Given the description of an element on the screen output the (x, y) to click on. 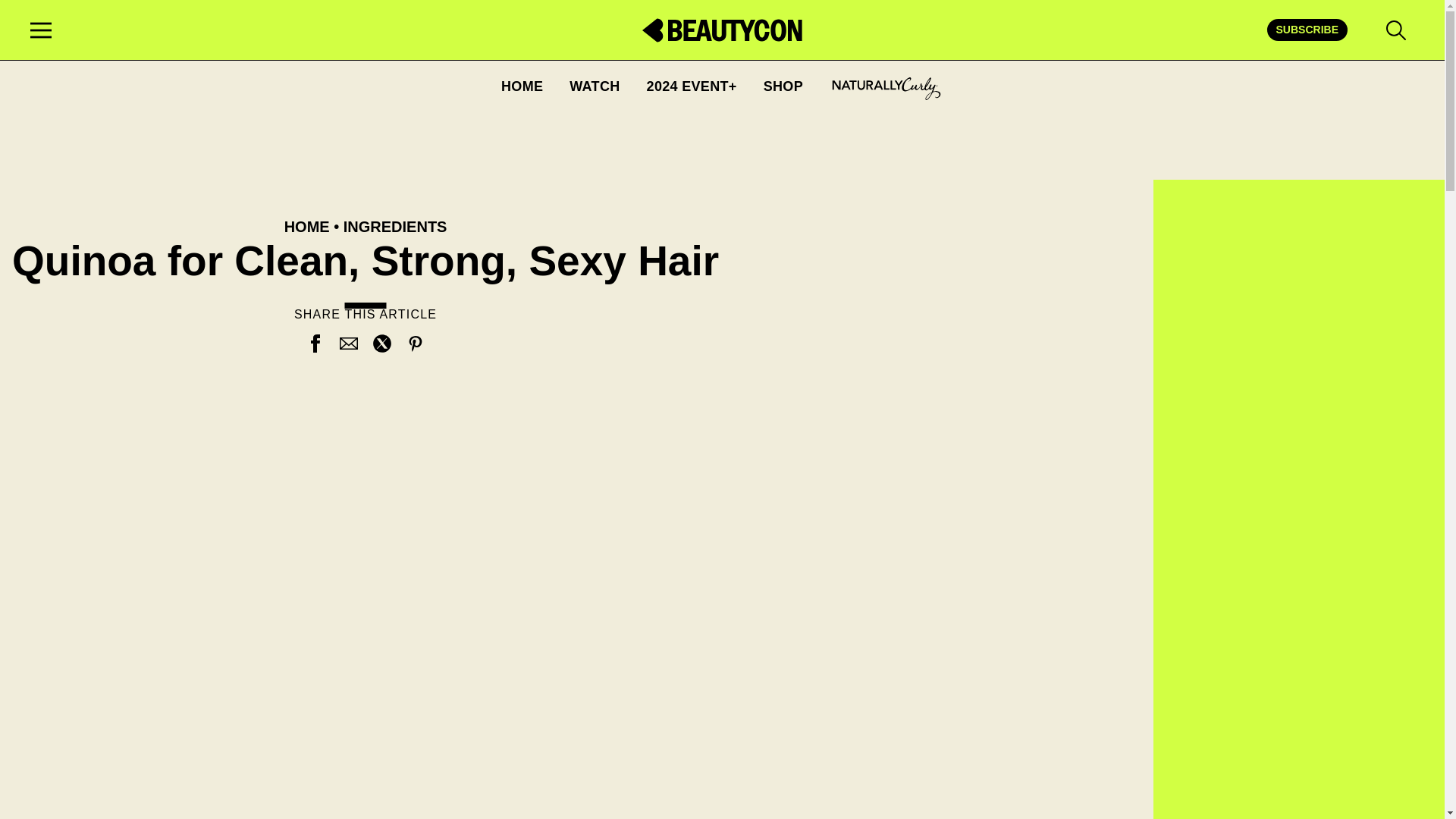
WATCH (594, 85)
HOME (306, 226)
HOME (521, 85)
2024 EVENT (691, 85)
SHOP (782, 85)
SUBSCRIBE (1307, 29)
INGREDIENTS (394, 226)
